Given the description of an element on the screen output the (x, y) to click on. 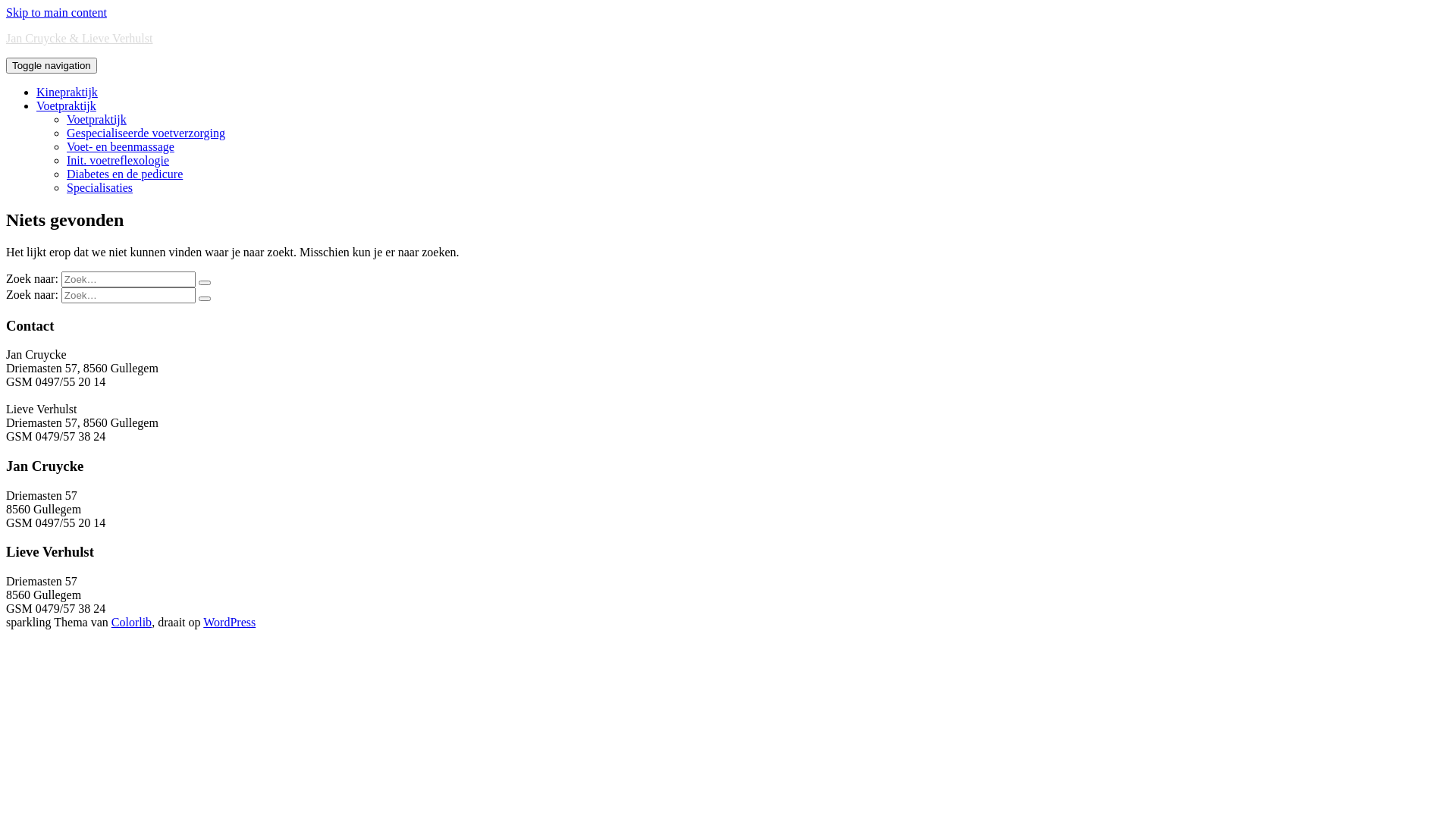
Jan Cruycke & Lieve Verhulst Element type: text (79, 37)
Diabetes en de pedicure Element type: text (124, 173)
WordPress Element type: text (229, 621)
Init. voetreflexologie Element type: text (117, 159)
Zoeken naar: Element type: hover (128, 279)
Zoeken Element type: text (204, 298)
Zoeken naar: Element type: hover (128, 295)
Colorlib Element type: text (131, 621)
Specialisaties Element type: text (99, 187)
Voetpraktijk Element type: text (66, 105)
Voetpraktijk Element type: text (96, 118)
Toggle navigation Element type: text (51, 65)
Gespecialiseerde voetverzorging Element type: text (145, 132)
Zoeken Element type: text (204, 282)
Kinepraktijk Element type: text (66, 91)
Voet- en beenmassage Element type: text (120, 146)
Skip to main content Element type: text (56, 12)
